Given the description of an element on the screen output the (x, y) to click on. 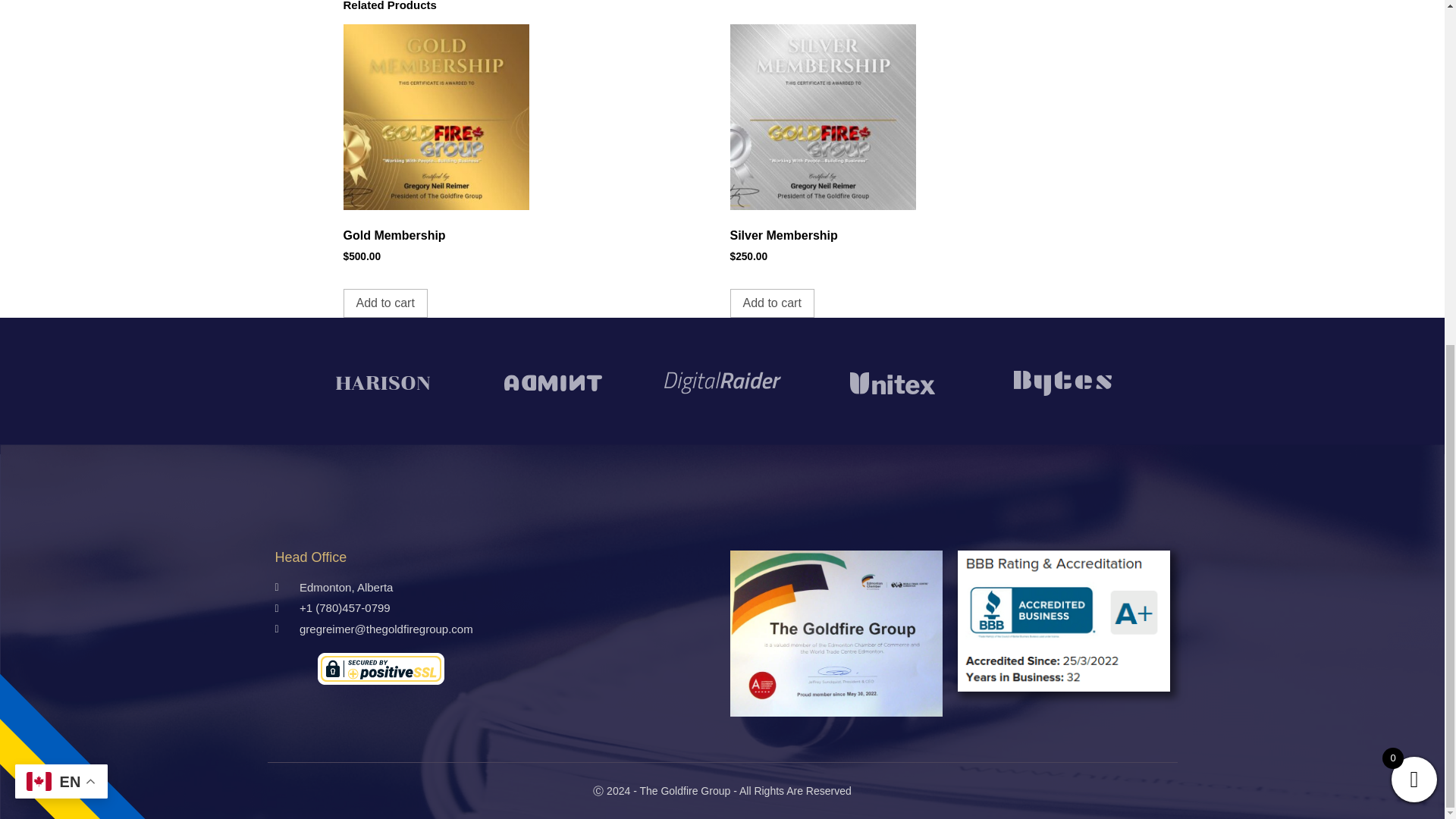
We stand with Ukraine (88, 110)
